Given the description of an element on the screen output the (x, y) to click on. 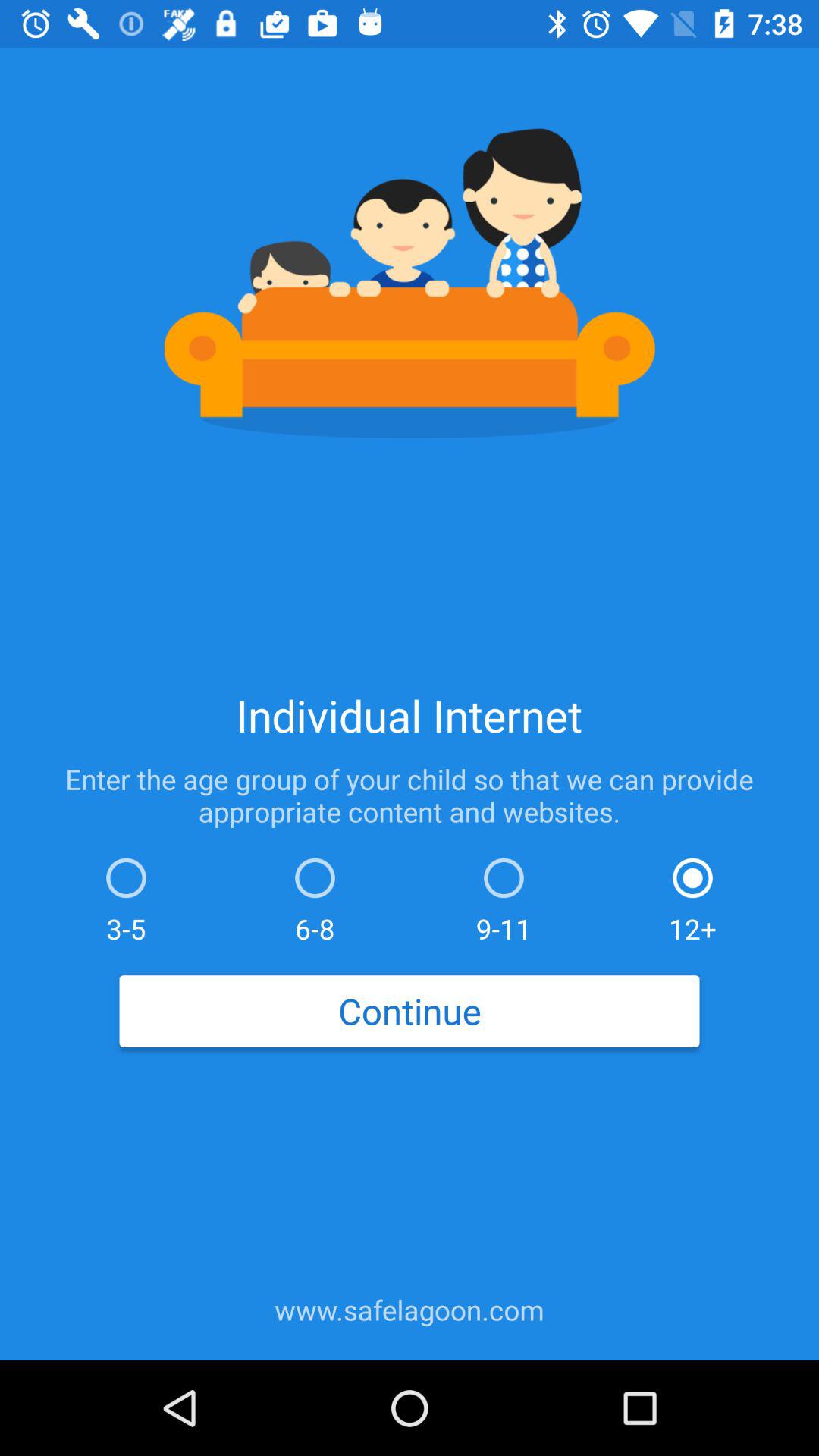
tap the icon next to 9-11 (692, 896)
